Given the description of an element on the screen output the (x, y) to click on. 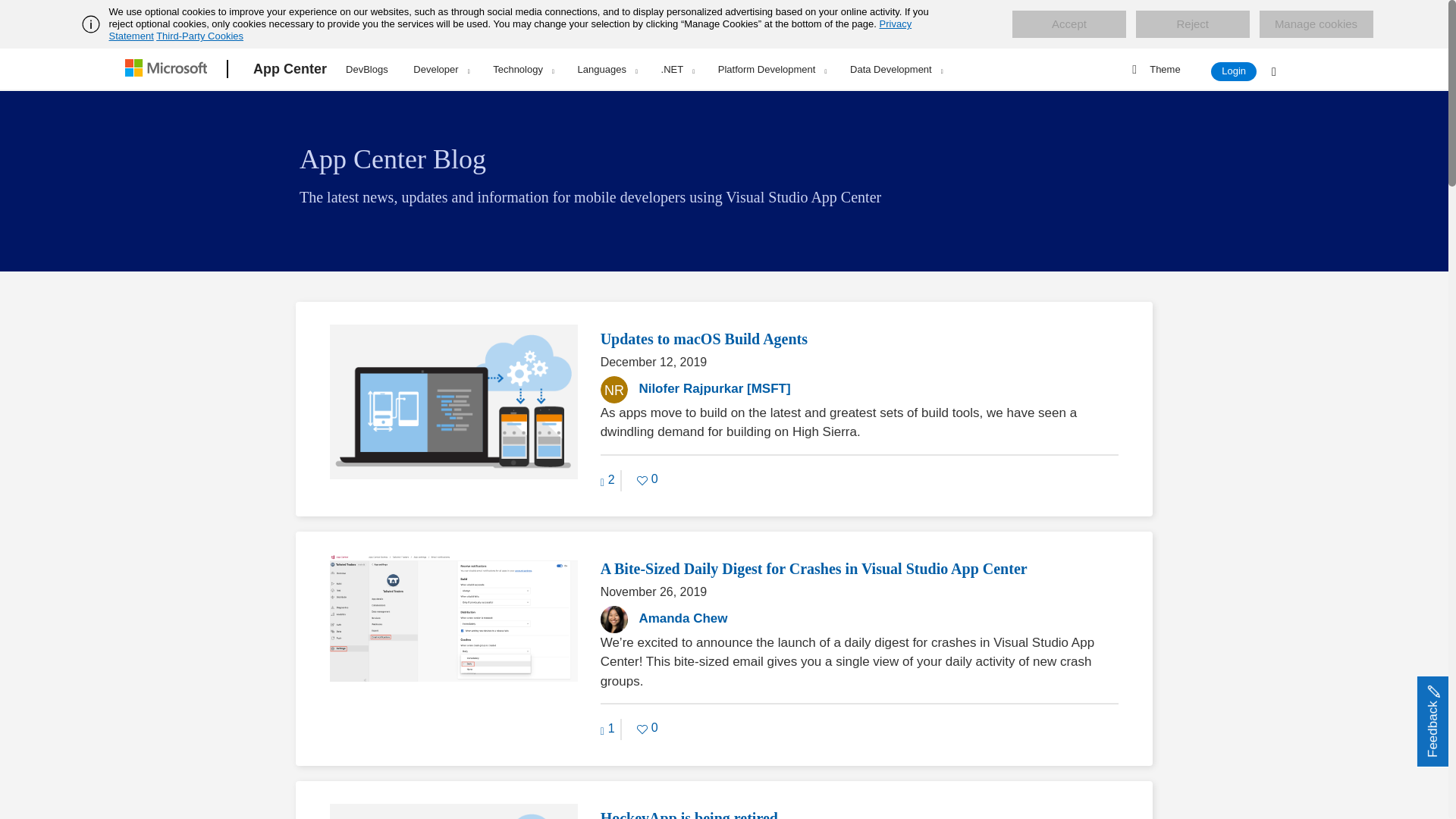
App Center (290, 69)
Accept (1068, 23)
DevBlogs (366, 67)
Third-Party Cookies (199, 35)
Privacy Statement (510, 29)
Reject (1192, 23)
Languages (606, 69)
Developer (440, 69)
Manage cookies (1316, 23)
Technology (523, 69)
